Given the description of an element on the screen output the (x, y) to click on. 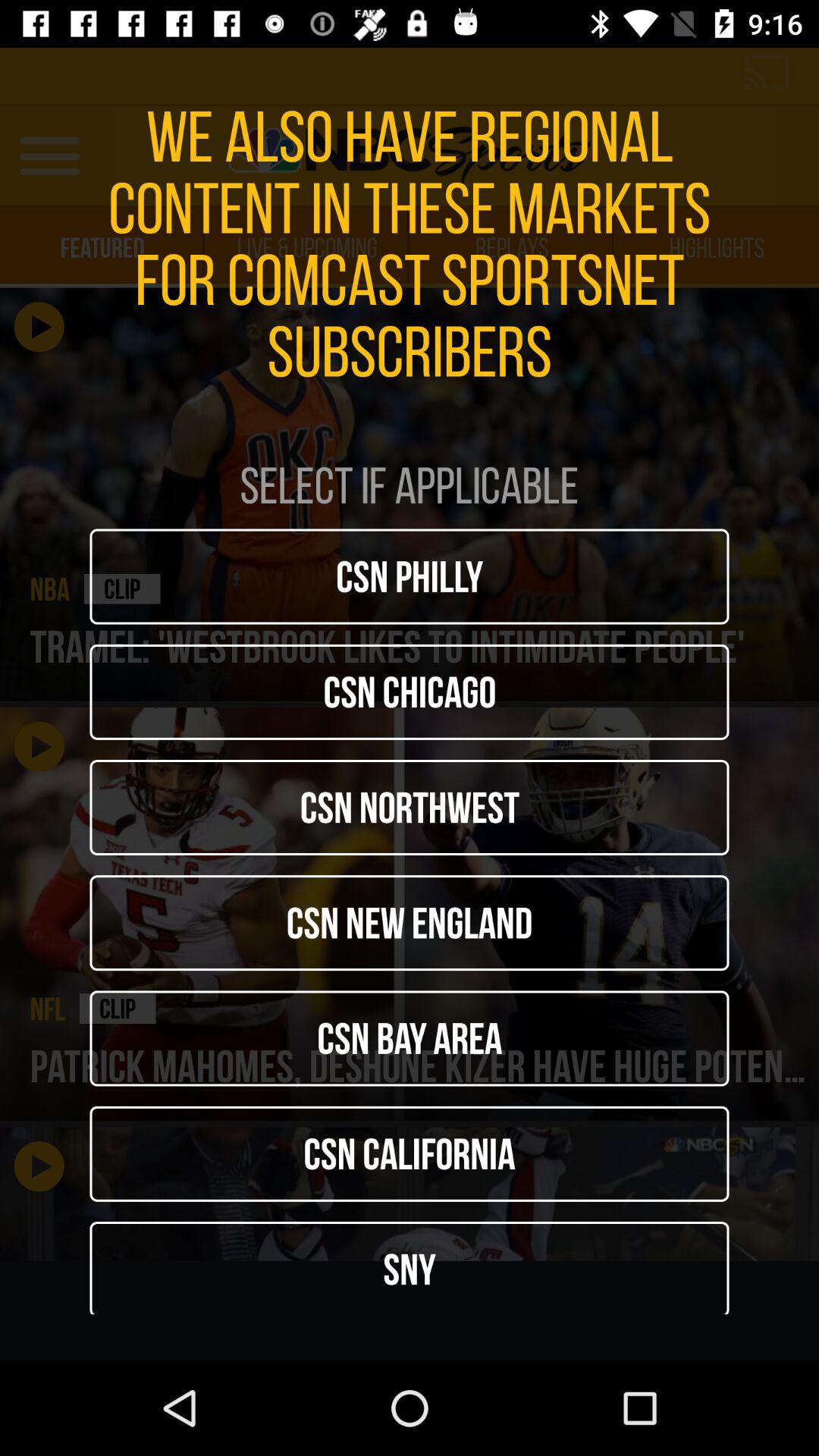
launch the icon below the csn northwest icon (409, 922)
